Given the description of an element on the screen output the (x, y) to click on. 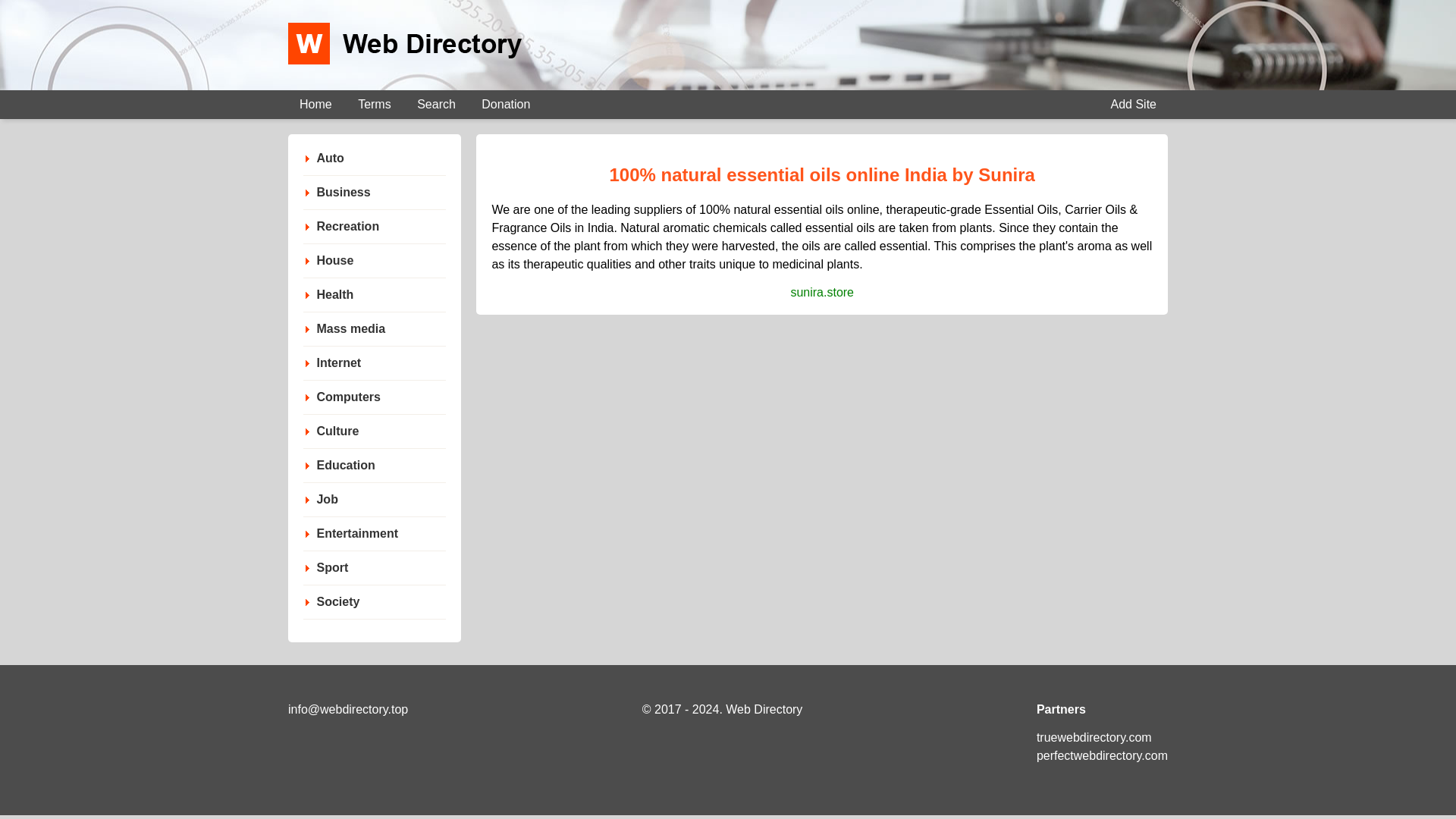
Donation (505, 104)
Search (436, 104)
Home (315, 104)
Auto (330, 158)
Add Site (1133, 104)
Business (343, 192)
Terms (374, 104)
